Given the description of an element on the screen output the (x, y) to click on. 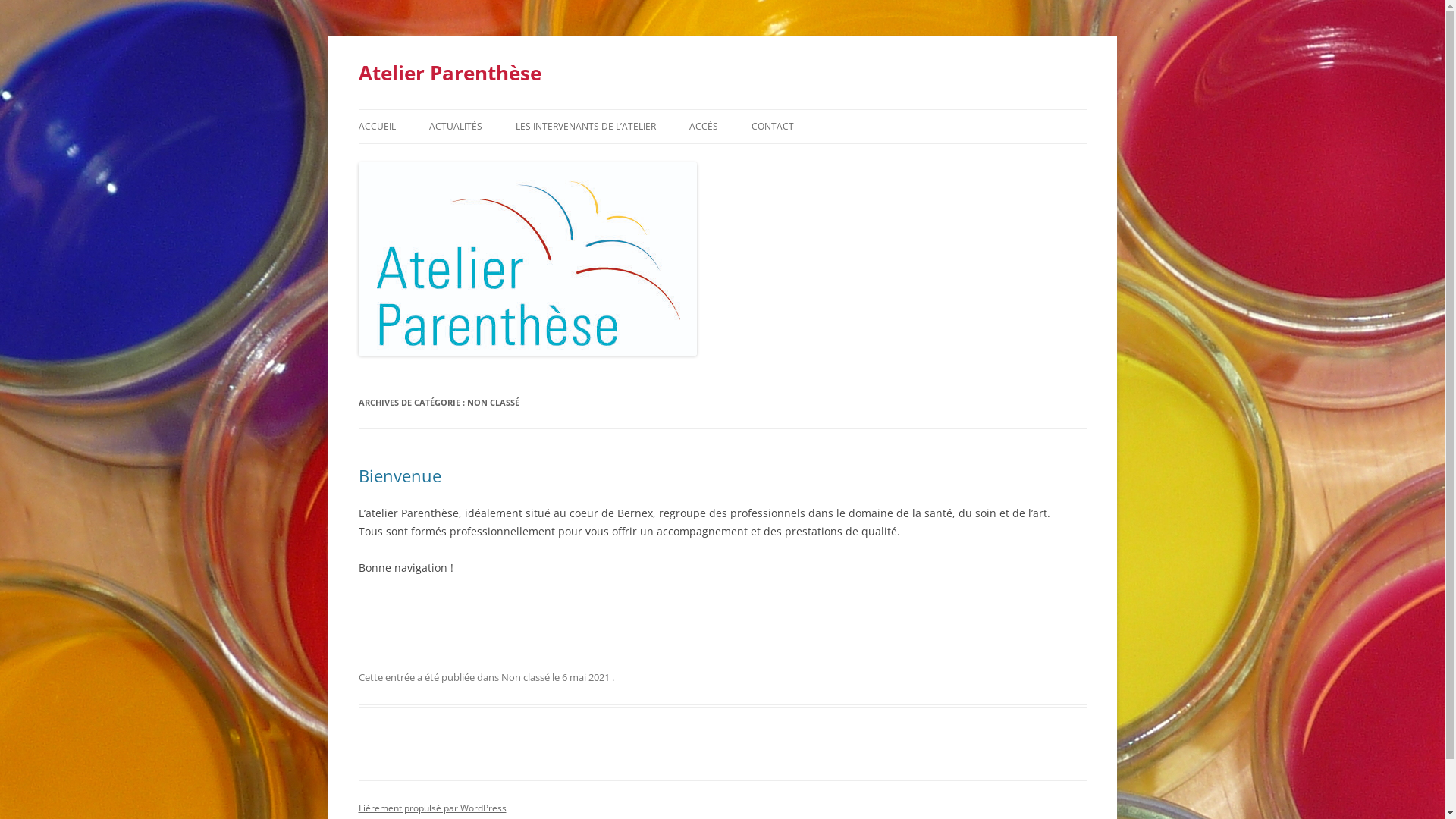
CONTACT Element type: text (771, 126)
Bienvenue Element type: text (398, 475)
CATHERINE MAFFEI Element type: text (591, 158)
ACCUEIL Element type: text (376, 126)
Aller au contenu Element type: text (721, 109)
6 mai 2021 Element type: text (584, 677)
